Given the description of an element on the screen output the (x, y) to click on. 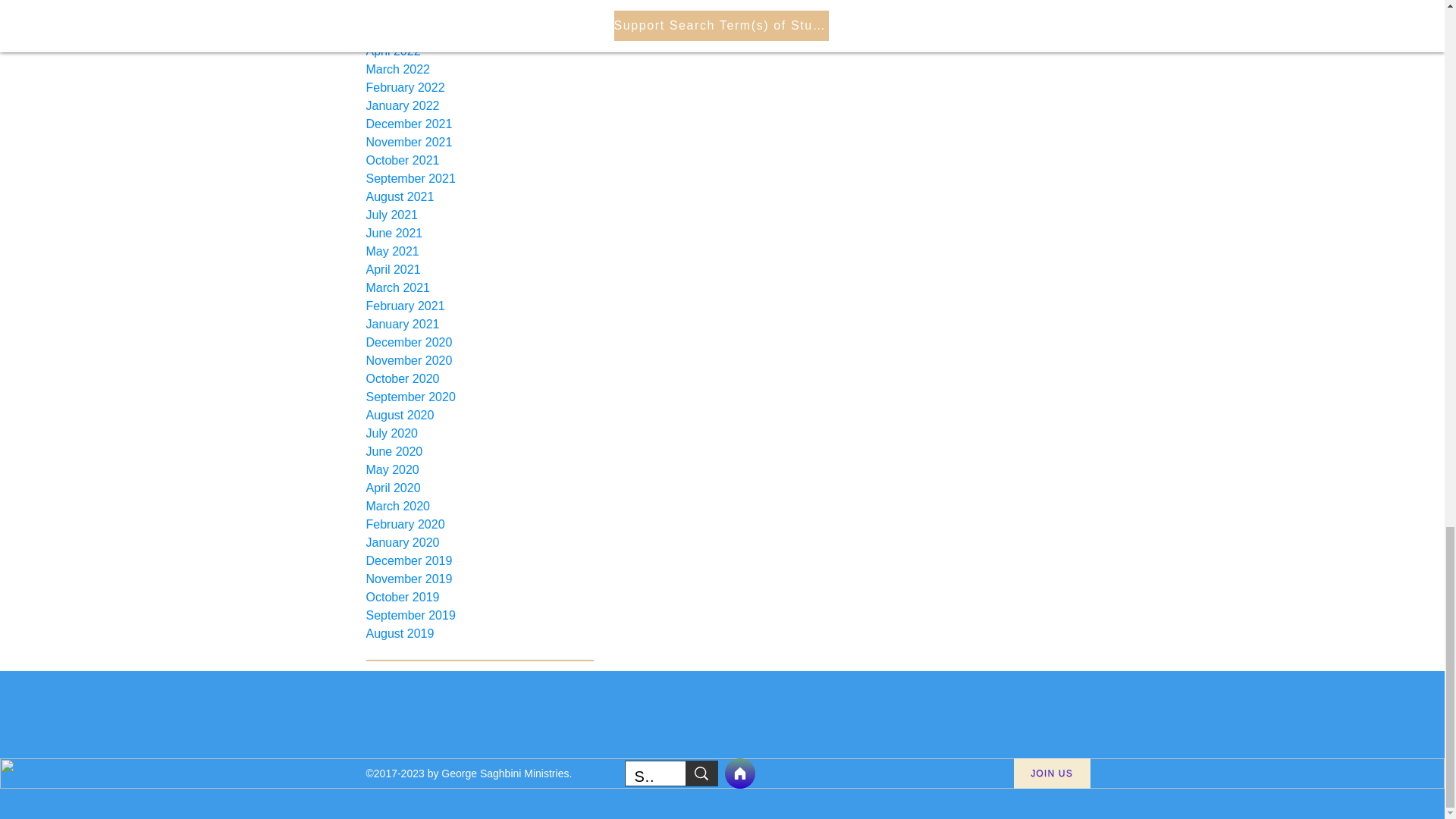
December 2021 (478, 124)
September 2021 (478, 178)
April 2022 (478, 51)
June 2022 (478, 14)
January 2021 (478, 324)
November 2020 (478, 361)
December 2020 (478, 342)
July 2021 (478, 215)
June 2021 (478, 233)
July 2022 (478, 2)
April 2021 (478, 270)
February 2021 (478, 306)
October 2021 (478, 160)
March 2021 (478, 288)
March 2022 (478, 69)
